Given the description of an element on the screen output the (x, y) to click on. 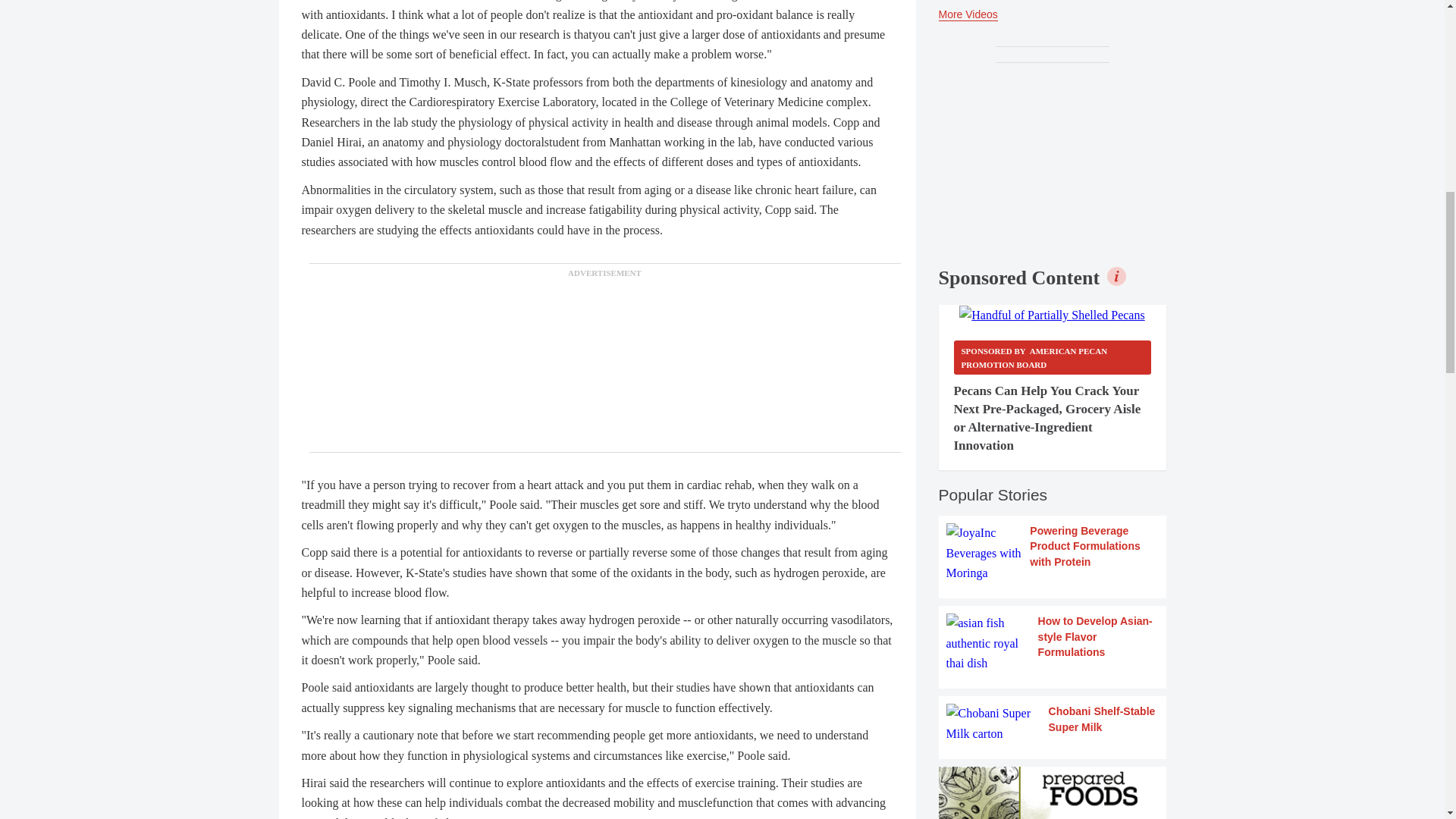
Chobani Shelf-Stable Super Milk  (1052, 723)
How to Develop Asian-style Flavor Formulations (1052, 643)
Handful of Partially Shelled Pecans (1051, 315)
Powering Beverage Product Formulations with Protein (1052, 553)
Sponsored by American Pecan Promotion Board (1052, 357)
